Given the description of an element on the screen output the (x, y) to click on. 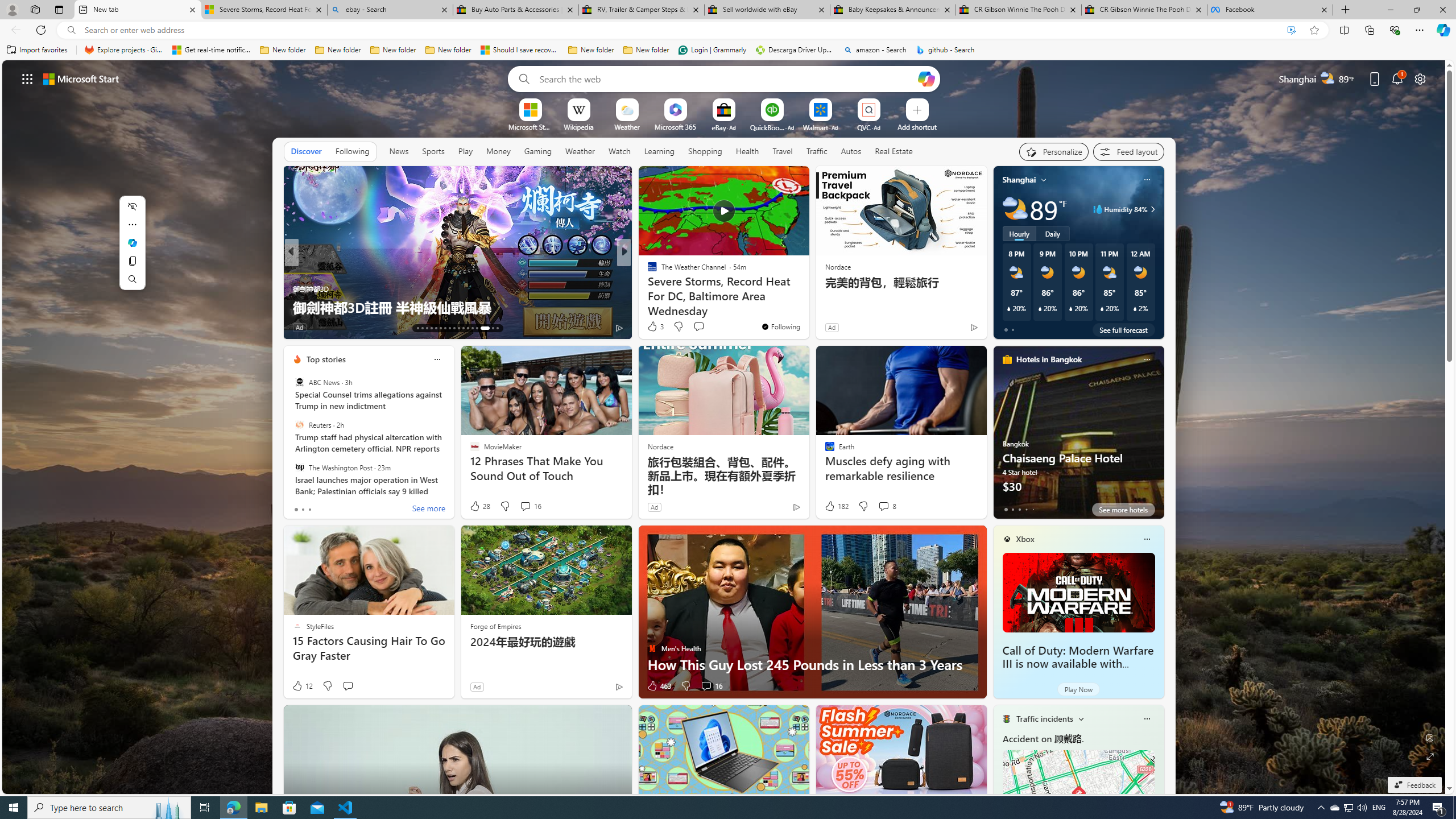
Collections (1369, 29)
Gaming (537, 151)
Close tab (1324, 9)
Nordace (659, 446)
3 Like (655, 326)
Ask Copilot (132, 242)
Money (497, 151)
Import favorites (36, 49)
AutomationID: tab-22 (458, 328)
